Given the description of an element on the screen output the (x, y) to click on. 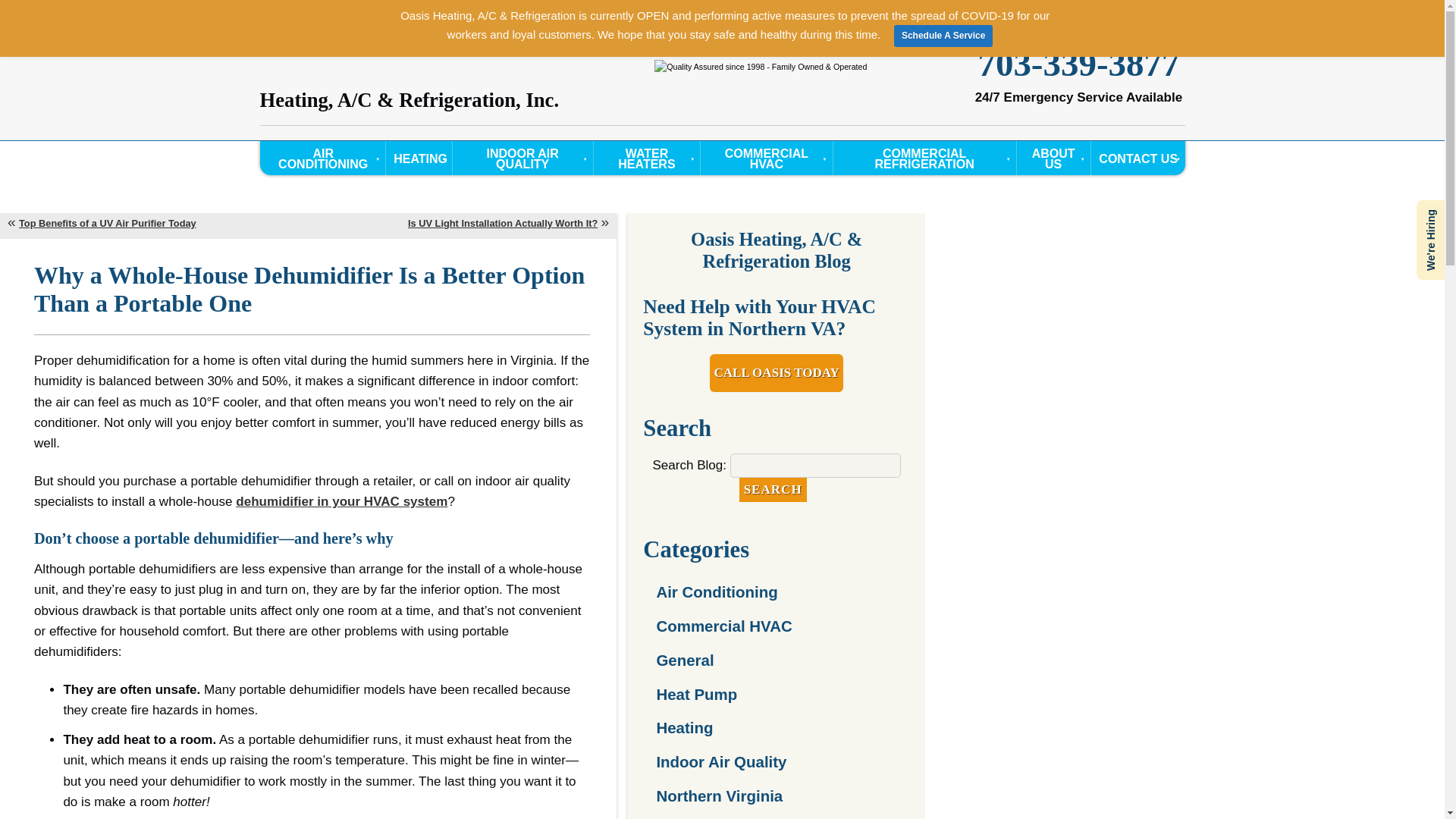
703-339-3877 (1077, 63)
INDOOR AIR QUALITY (522, 157)
WATER HEATERS (647, 157)
AIR CONDITIONING (322, 157)
HEATING (418, 157)
